Given the description of an element on the screen output the (x, y) to click on. 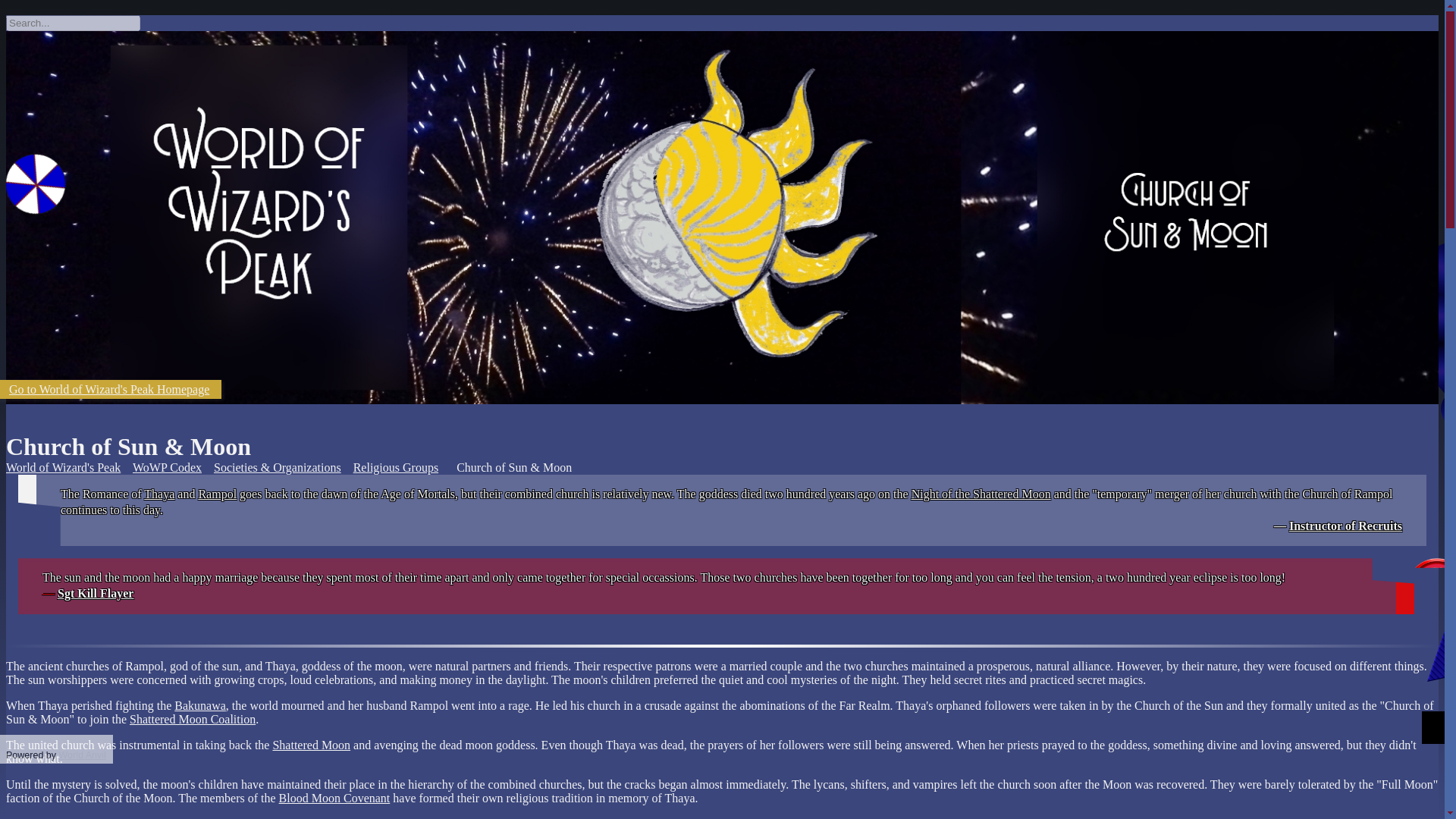
World of Wizard's Peak (62, 467)
WoWP Codex (167, 467)
Go to World of Wizard's Peak Homepage (110, 389)
